Given the description of an element on the screen output the (x, y) to click on. 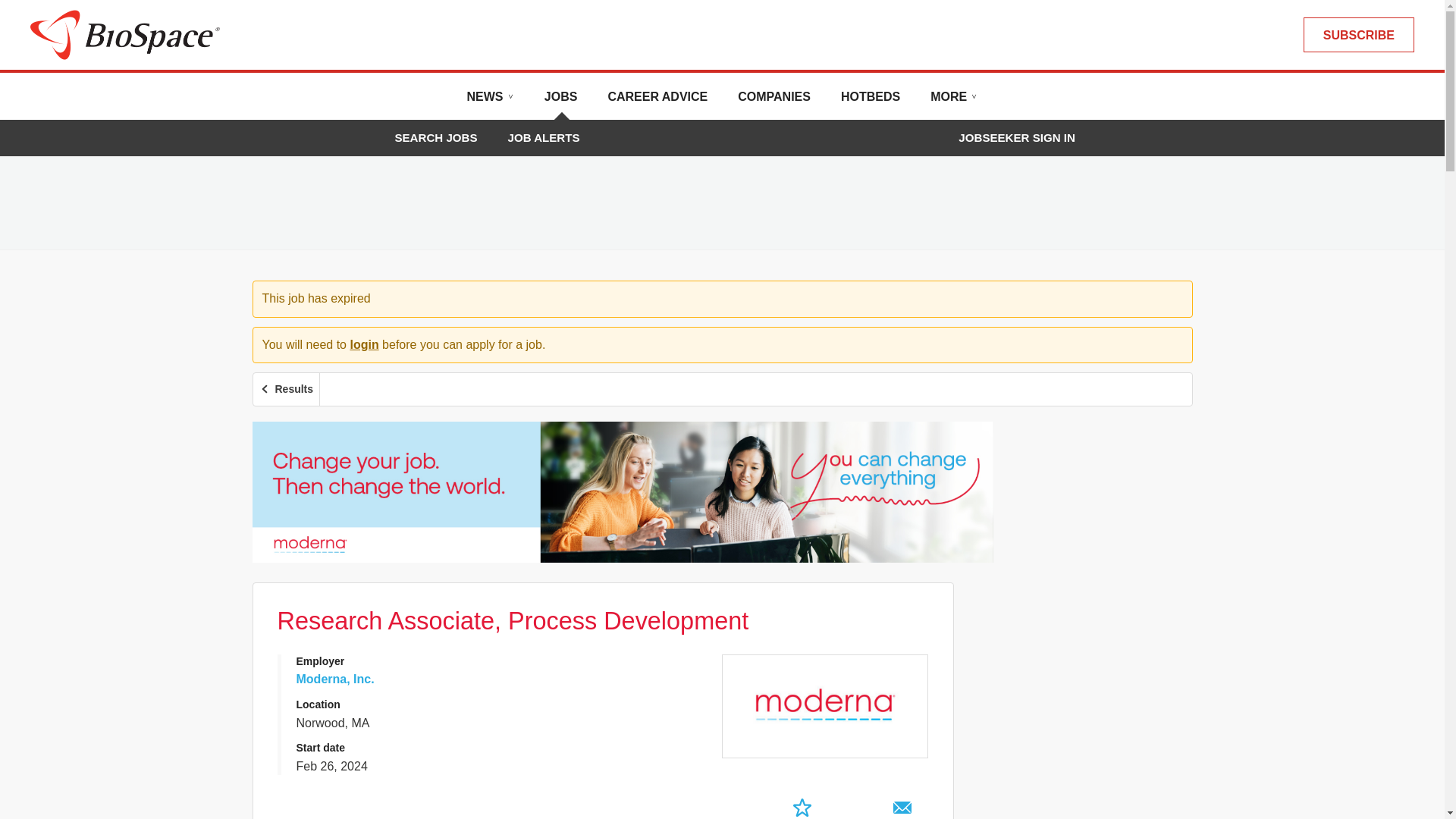
BioSpace (124, 34)
JOBS (561, 102)
NEWS (490, 102)
MORE (953, 102)
CAREER ADVICE (657, 102)
COMPANIES (774, 102)
JOB ALERTS (543, 137)
HOTBEDS (870, 102)
SEARCH JOBS (435, 137)
SUBSCRIBE (1358, 34)
